Given the description of an element on the screen output the (x, y) to click on. 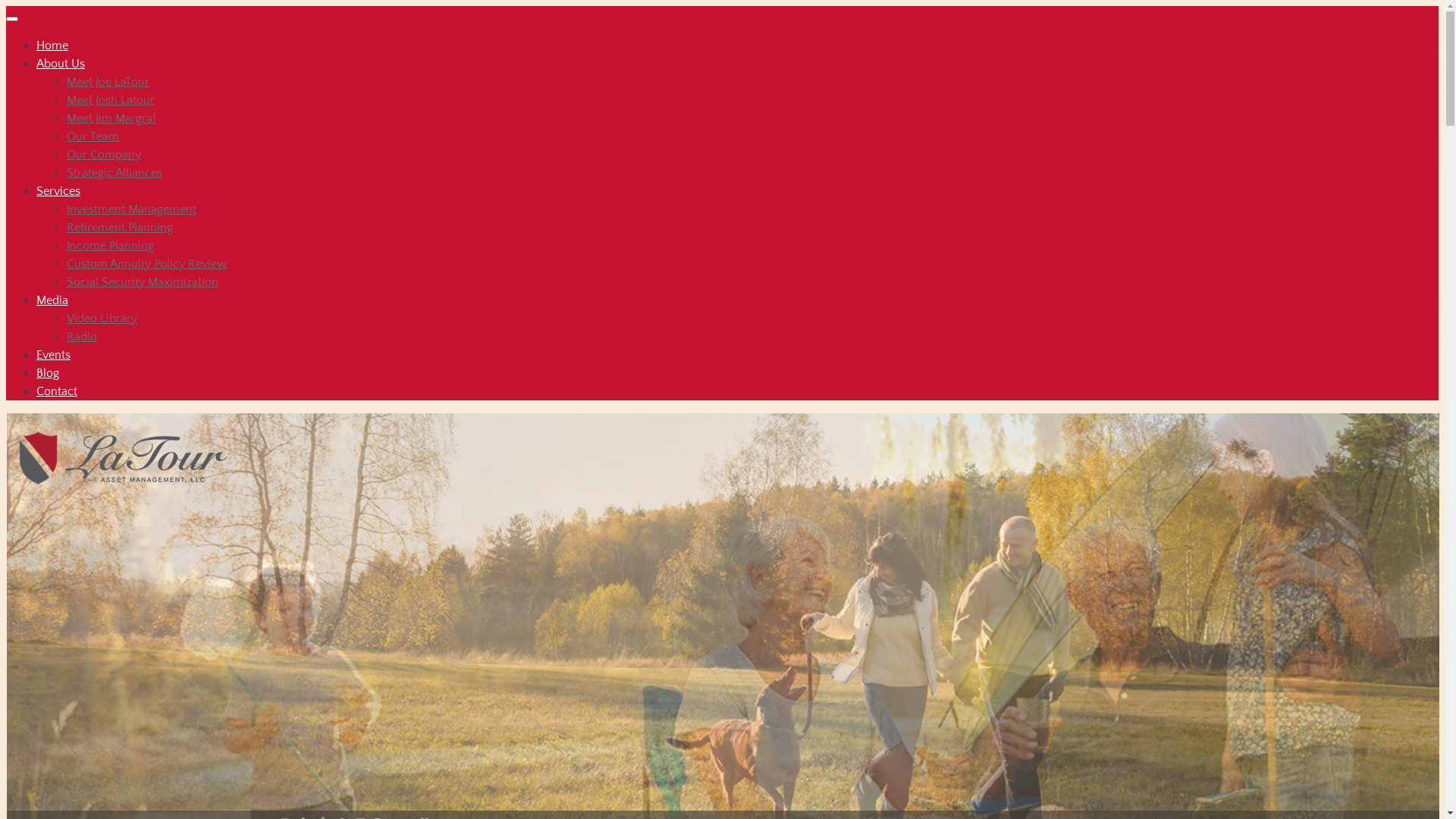
Our Company Element type: text (103, 154)
Services Element type: text (58, 190)
Meet Jim Margraf Element type: text (111, 118)
Meet Joe LaTour Element type: text (107, 81)
Media Element type: text (52, 300)
Custom Annuity Policy Review Element type: text (146, 263)
Blog Element type: text (47, 372)
Investment Management Element type: text (131, 209)
Video Library Element type: text (101, 318)
Income Planning Element type: text (109, 245)
Toggle navigation Element type: text (12, 18)
Events Element type: text (53, 354)
Radio Element type: text (81, 336)
Meet Josh Latour Element type: text (110, 99)
Social Security Maximization Element type: text (142, 281)
Strategic Alliances Element type: text (114, 172)
Home Element type: text (52, 45)
Contact Element type: text (56, 391)
About Us Element type: text (60, 63)
LaTour Asset Management, LLC Element type: text (127, 450)
Retirement Planning Element type: text (119, 227)
Our Team Element type: text (92, 136)
